Given the description of an element on the screen output the (x, y) to click on. 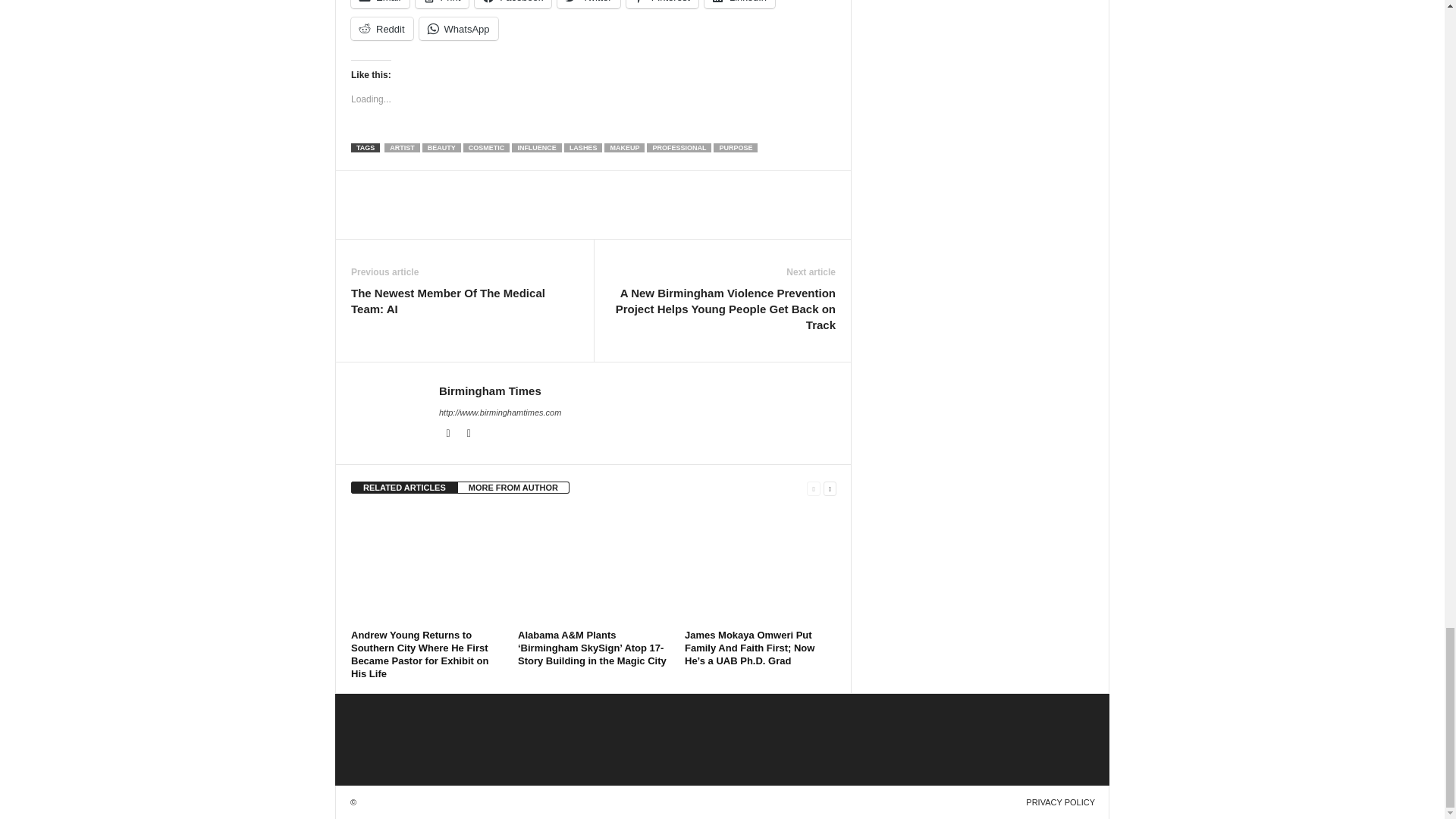
Click to share on Pinterest (662, 4)
Click to print (441, 4)
Click to share on Twitter (588, 4)
Click to share on WhatsApp (458, 28)
Click to share on Reddit (381, 28)
bottomFacebookLike (390, 186)
Click to email a link to a friend (379, 4)
Click to share on Facebook (512, 4)
Click to share on LinkedIn (739, 4)
